Given the description of an element on the screen output the (x, y) to click on. 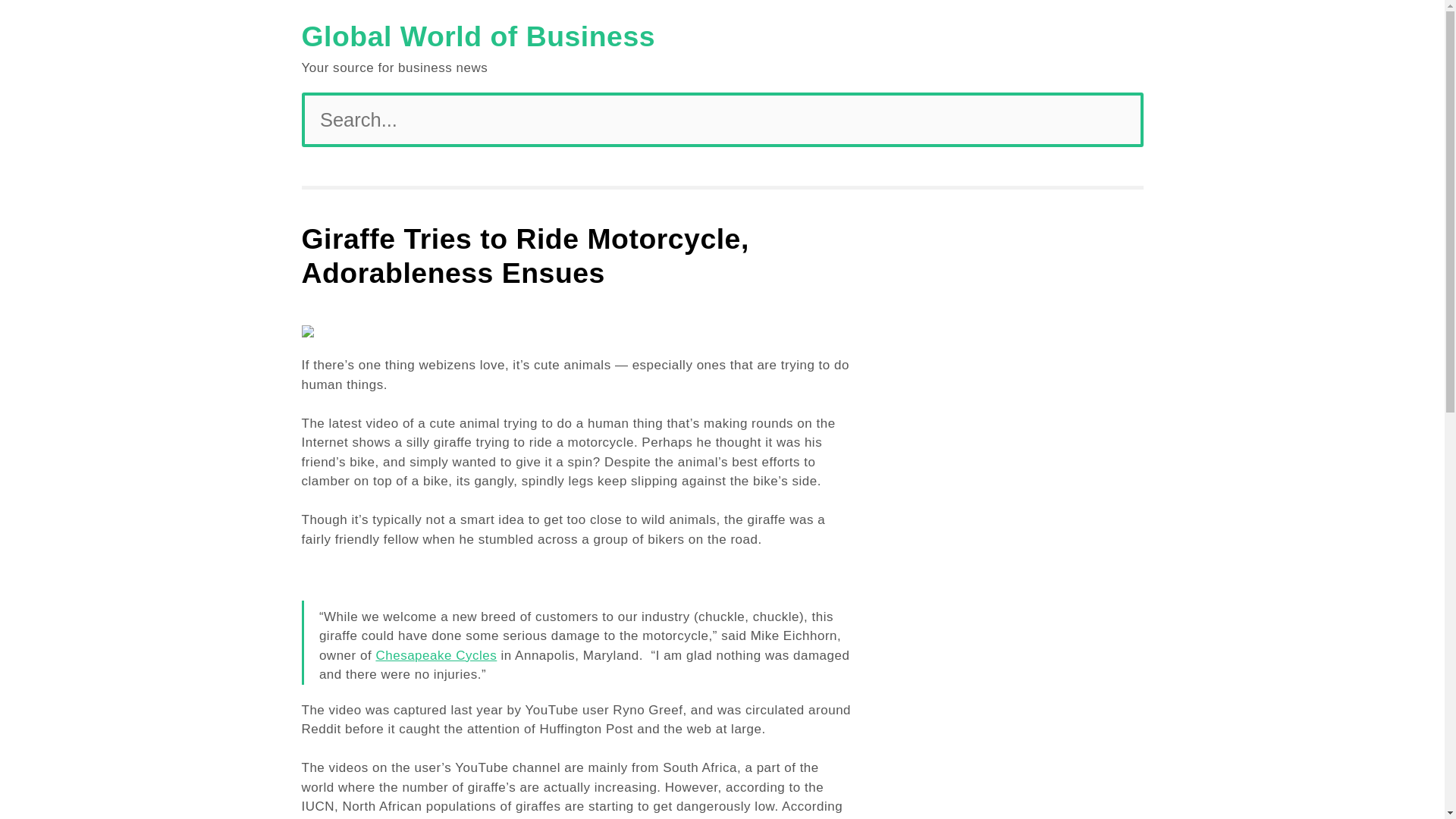
Chesapeake Cycles (435, 655)
Global World of Business (478, 36)
